Given the description of an element on the screen output the (x, y) to click on. 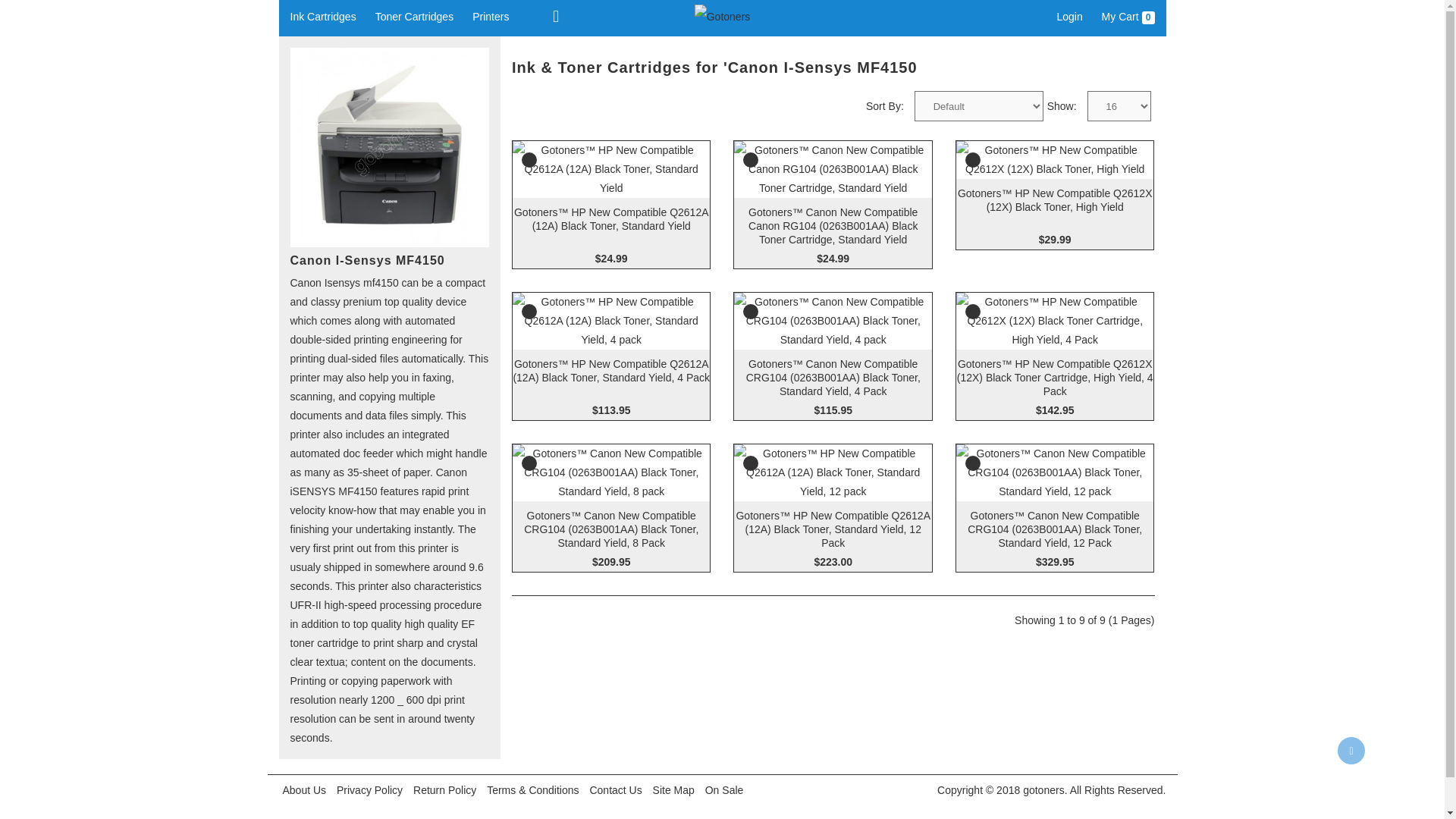
About Us (304, 789)
Printers (489, 16)
Gotoners (722, 16)
Ink Cartridges (322, 16)
Contact Us (615, 789)
Site Map (673, 789)
My Cart 0 (1128, 16)
Toner Cartridges (414, 16)
On Sale (724, 789)
Return Policy (444, 789)
Login (1069, 17)
Privacy Policy (369, 789)
